Given the description of an element on the screen output the (x, y) to click on. 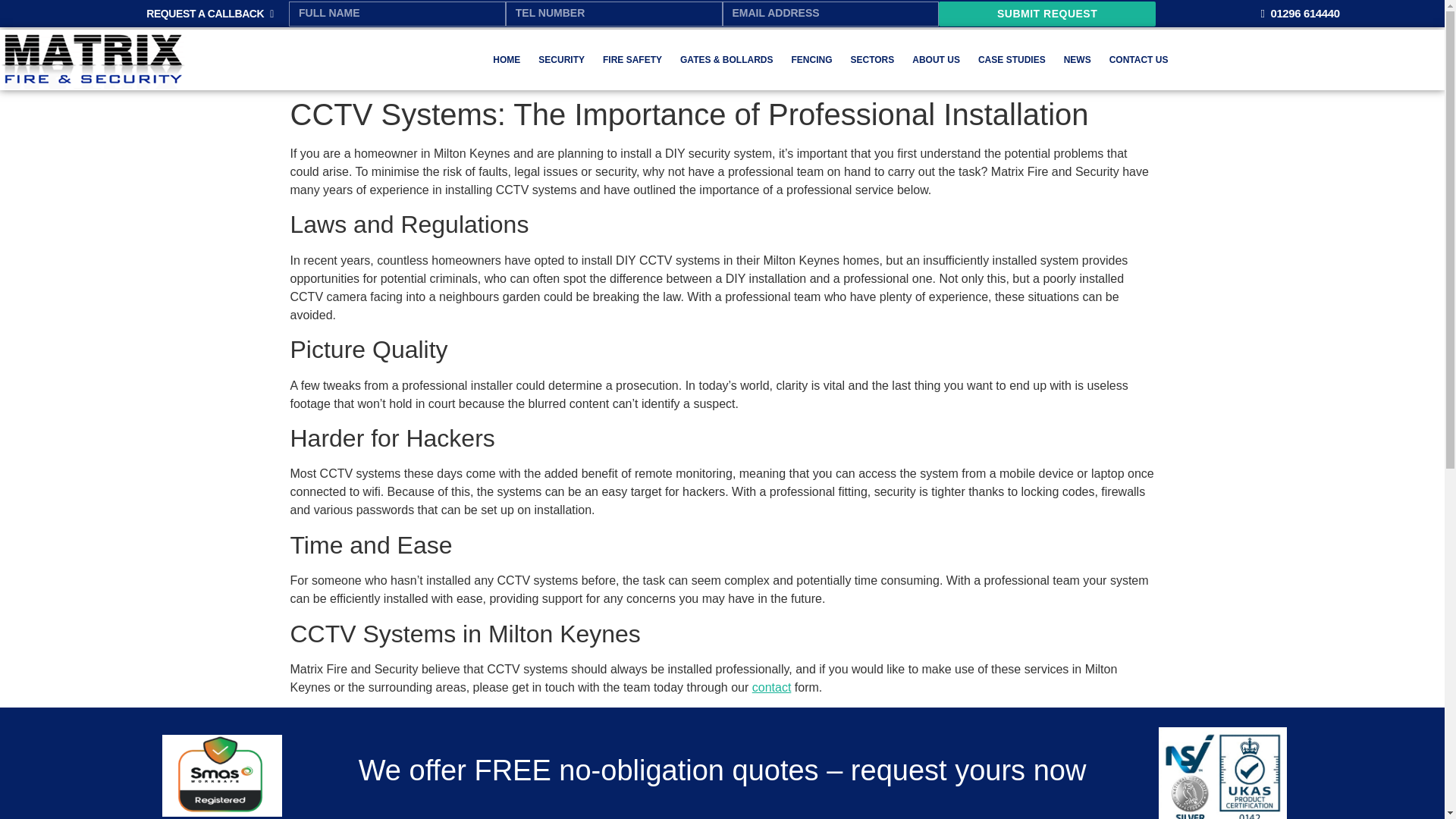
CASE STUDIES (1011, 59)
HOME (506, 59)
SECURITY (561, 59)
SECTORS (871, 59)
ABOUT US (935, 59)
NEWS (1077, 59)
FENCING (811, 59)
CONTACT US (1138, 59)
REQUEST A CALLBACK (209, 13)
FIRE SAFETY (632, 59)
01296 614440 (1299, 13)
SUBMIT REQUEST (1047, 13)
